Given the description of an element on the screen output the (x, y) to click on. 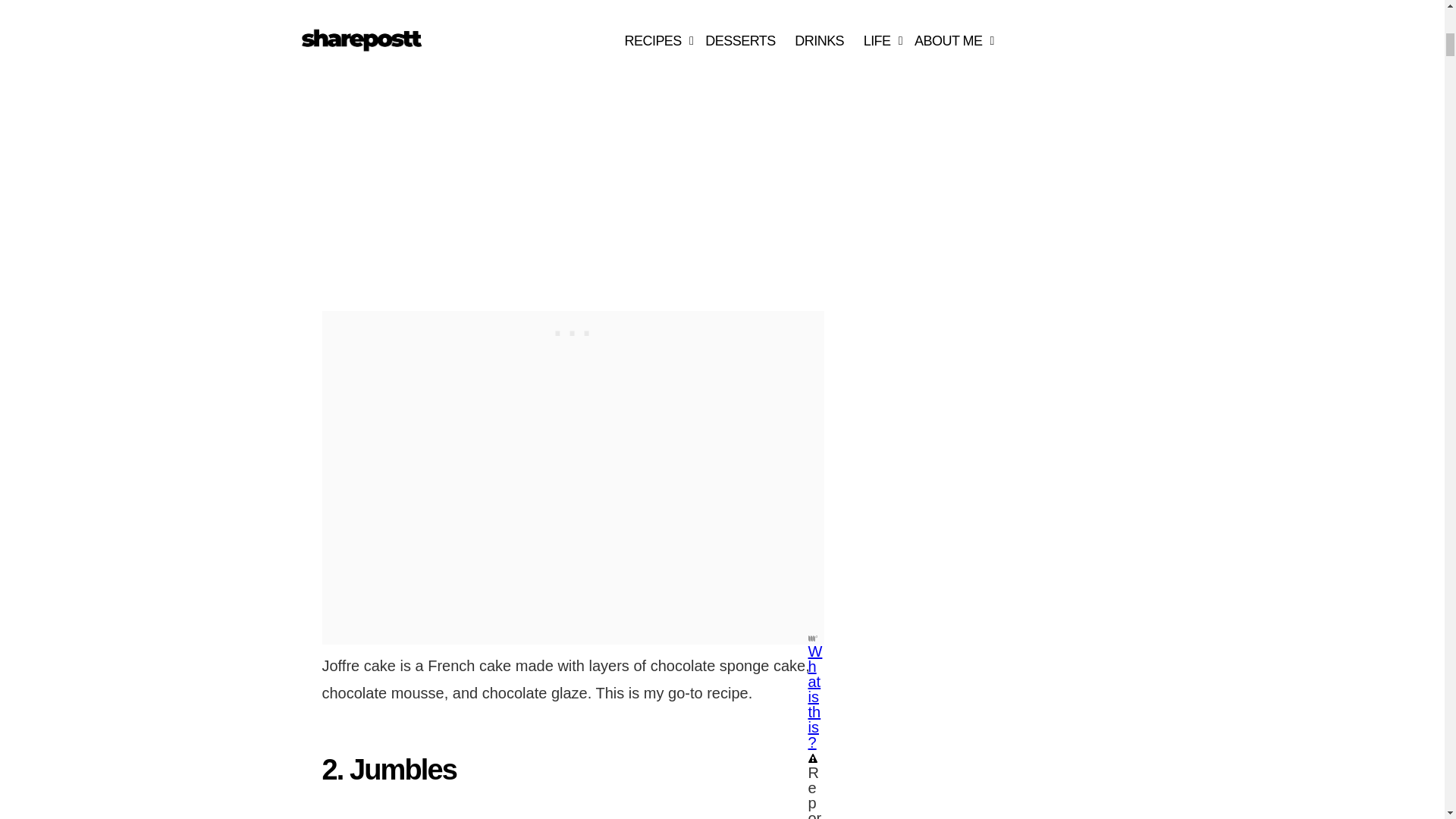
Jumbles (491, 811)
3rd party ad content (572, 329)
Tort Joffre (491, 143)
